Given the description of an element on the screen output the (x, y) to click on. 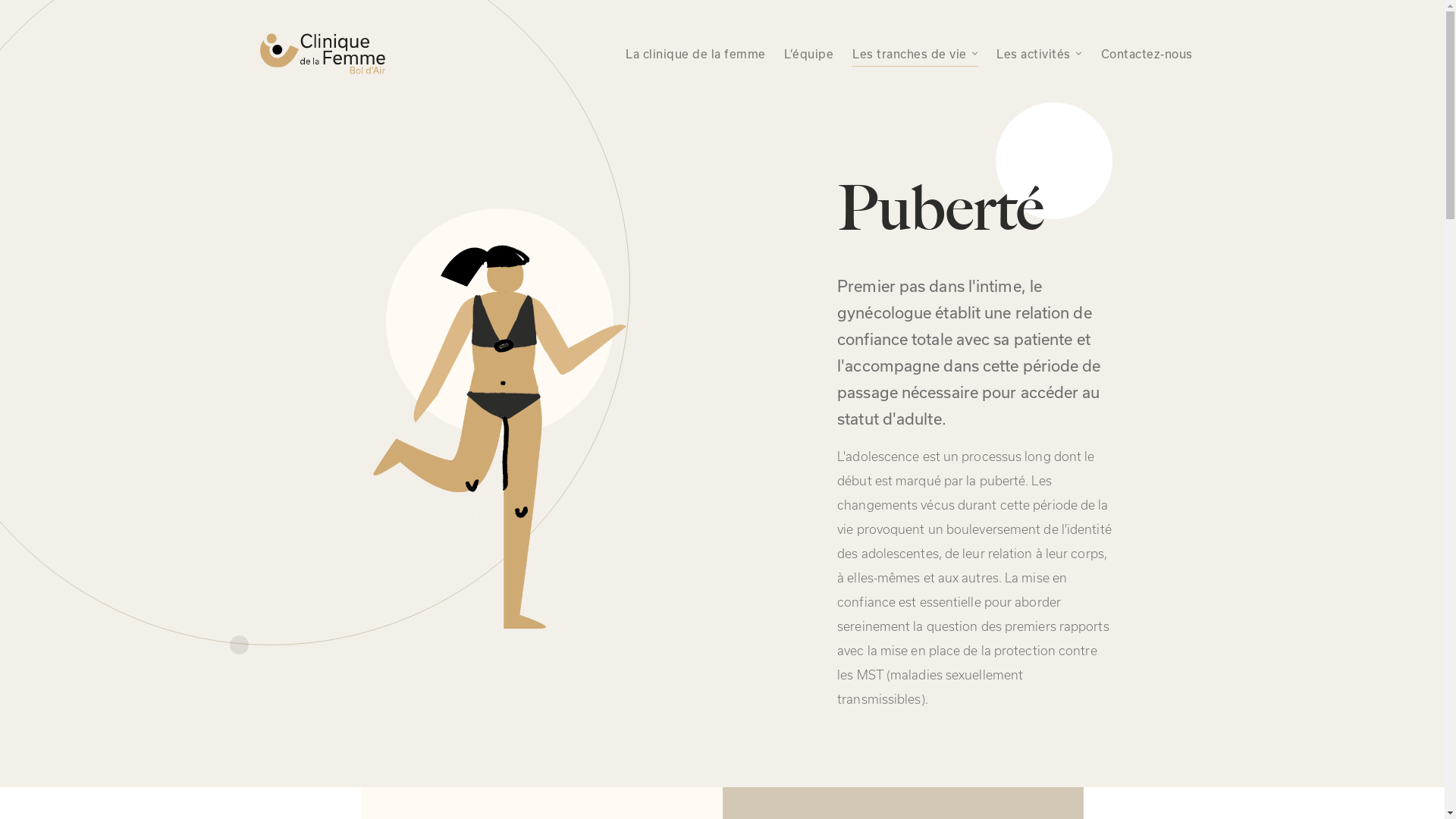
Contactez-nous Element type: text (1146, 53)
Les tranches de vie Element type: text (915, 53)
La clinique de la femme Element type: text (695, 53)
Aller vers la page d'accueil Element type: text (321, 53)
